Given the description of an element on the screen output the (x, y) to click on. 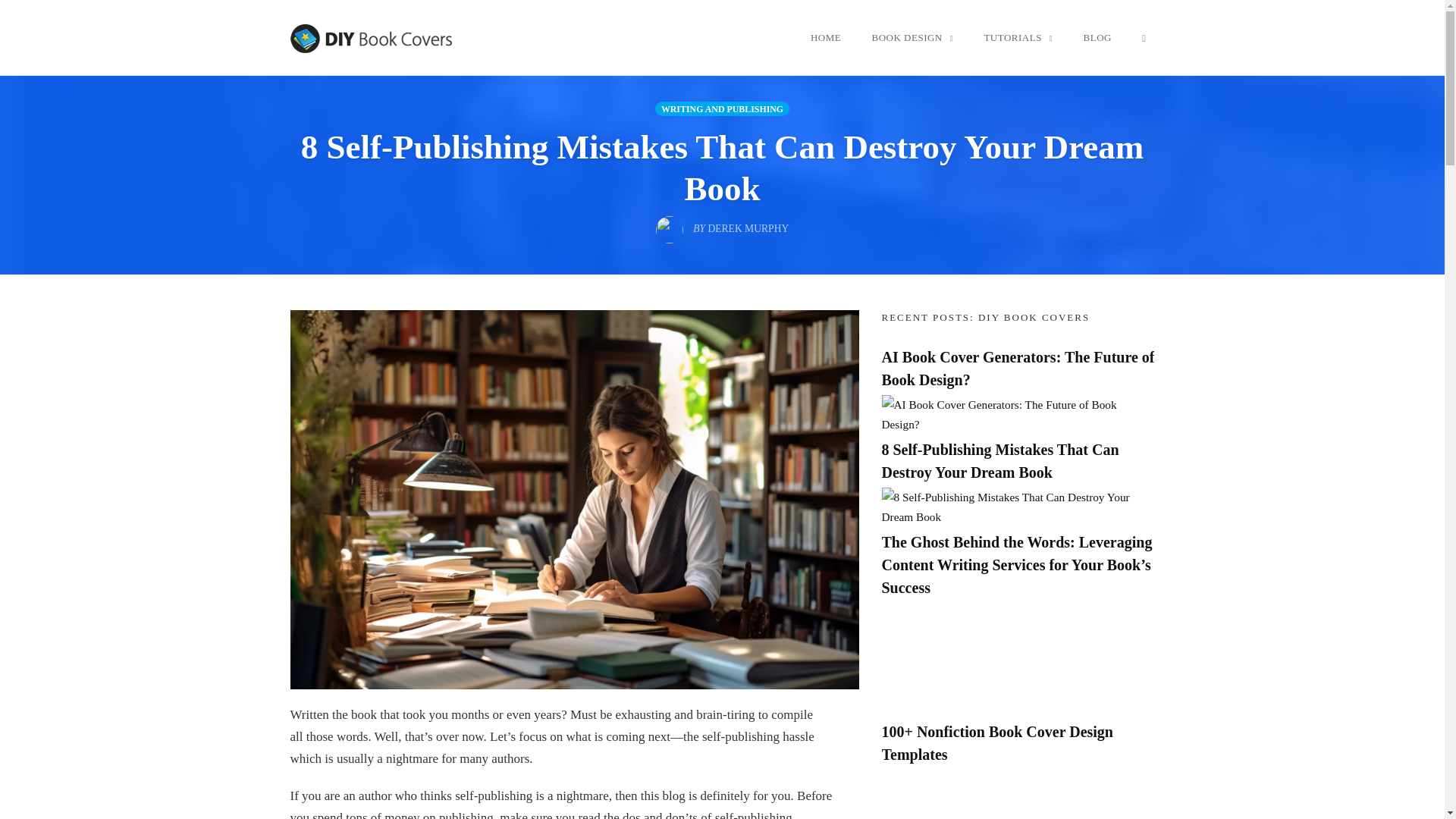
HOME (825, 37)
OPEN SEARCH FORM (1144, 37)
AI Book Cover Generators: The Future of Book Design? (1017, 413)
8 Self-Publishing Mistakes That Can Destroy Your Dream Book (1017, 505)
AI Book Cover Generators: The Future of Book Design? (1017, 368)
TUTORIALS (1018, 37)
8 Self-Publishing Mistakes That Can Destroy Your Dream Book (721, 167)
BOOK DESIGN (911, 37)
BLOG (1097, 37)
8 Self-Publishing Mistakes That Can Destroy Your Dream Book (999, 460)
BY DEREK MURPHY (722, 224)
WRITING AND PUBLISHING (722, 108)
DIY Book Covers (373, 37)
